Given the description of an element on the screen output the (x, y) to click on. 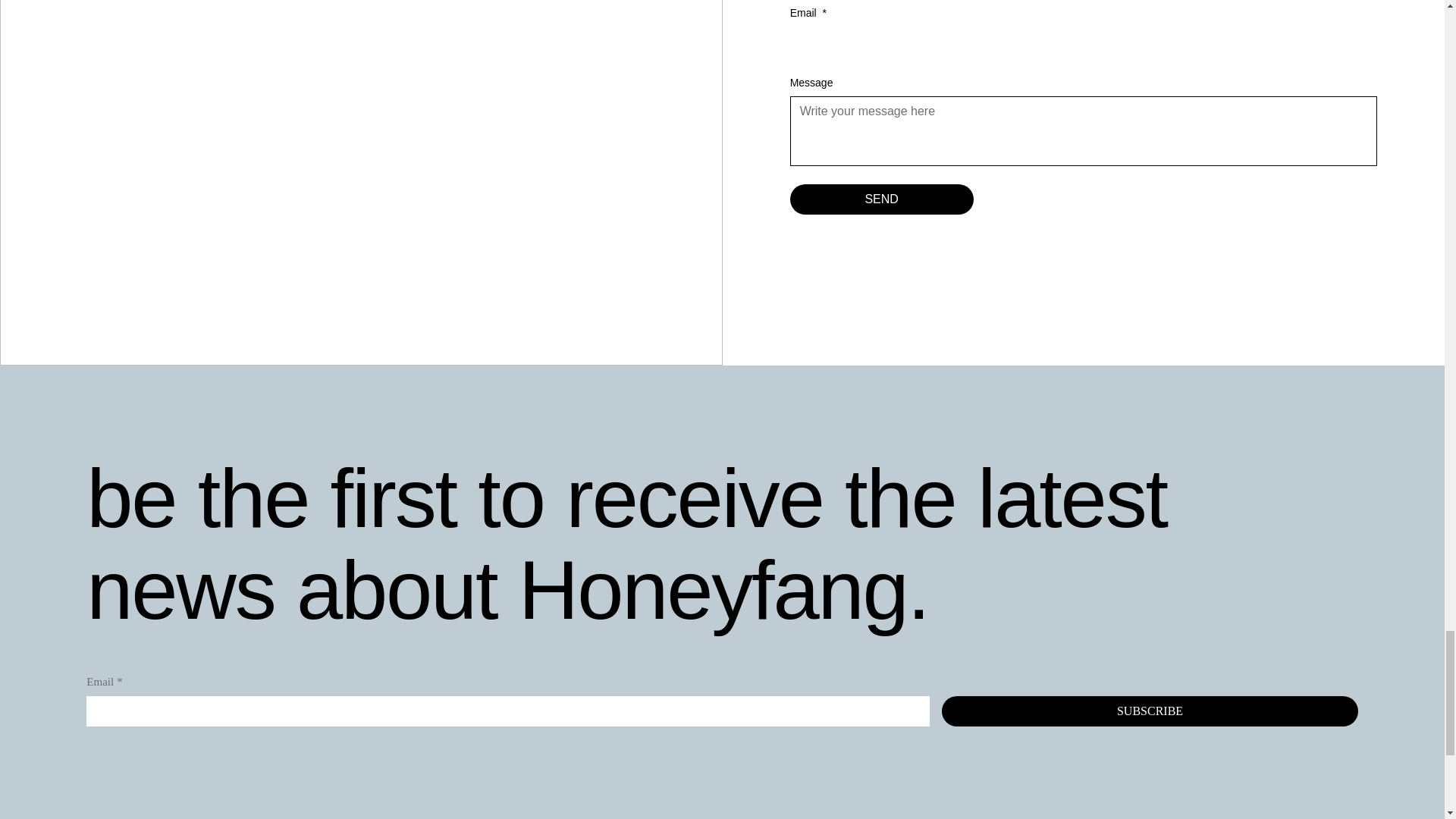
SUBSCRIBE (1149, 711)
SEND (882, 199)
